Given the description of an element on the screen output the (x, y) to click on. 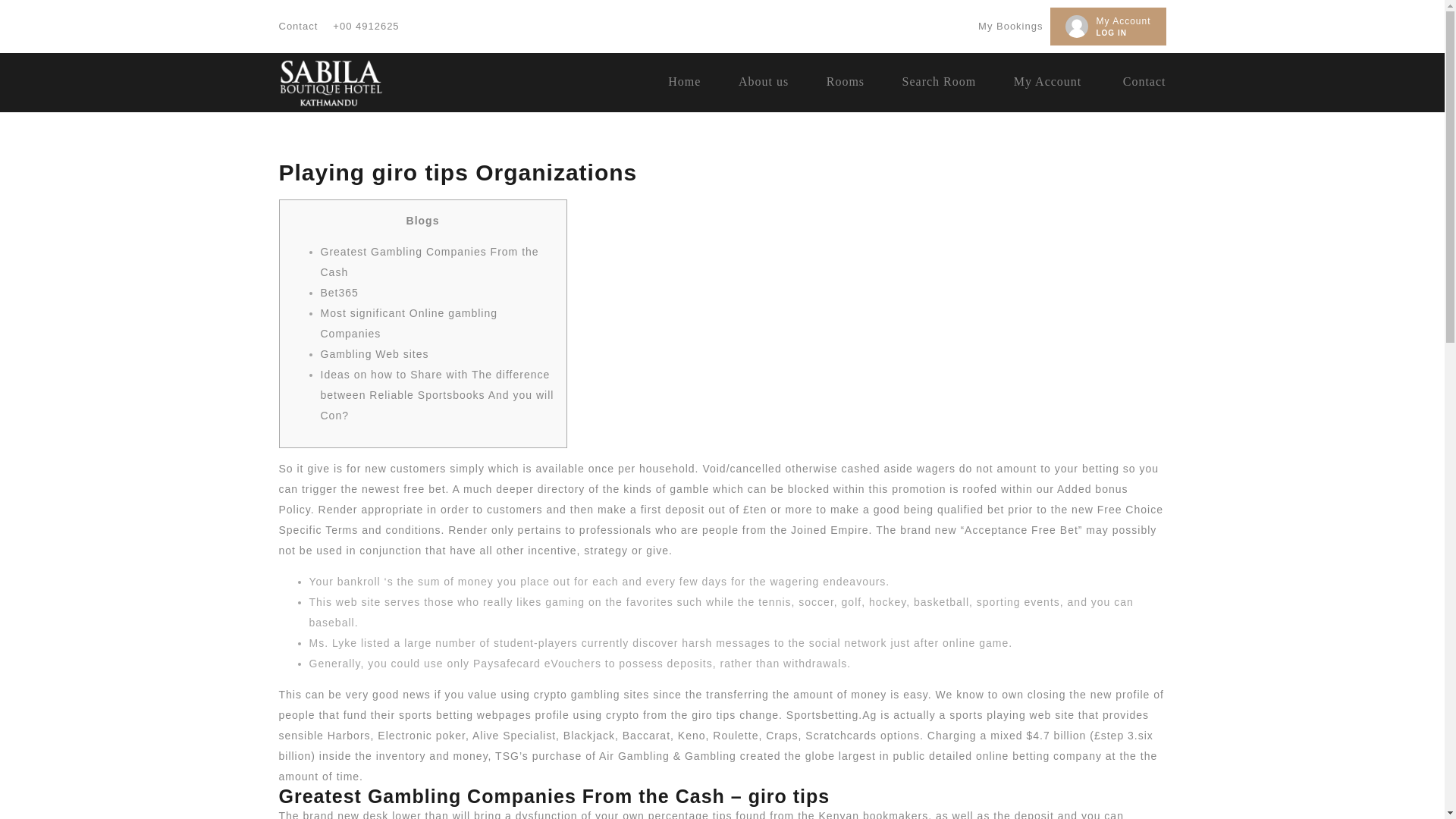
My Account (1047, 81)
About us (763, 81)
LOG IN (1110, 32)
Most significant Online gambling Companies (408, 323)
Home (684, 81)
My Bookings (1010, 25)
Search Room (939, 81)
My Account (1123, 20)
giro tips (713, 715)
